Given the description of an element on the screen output the (x, y) to click on. 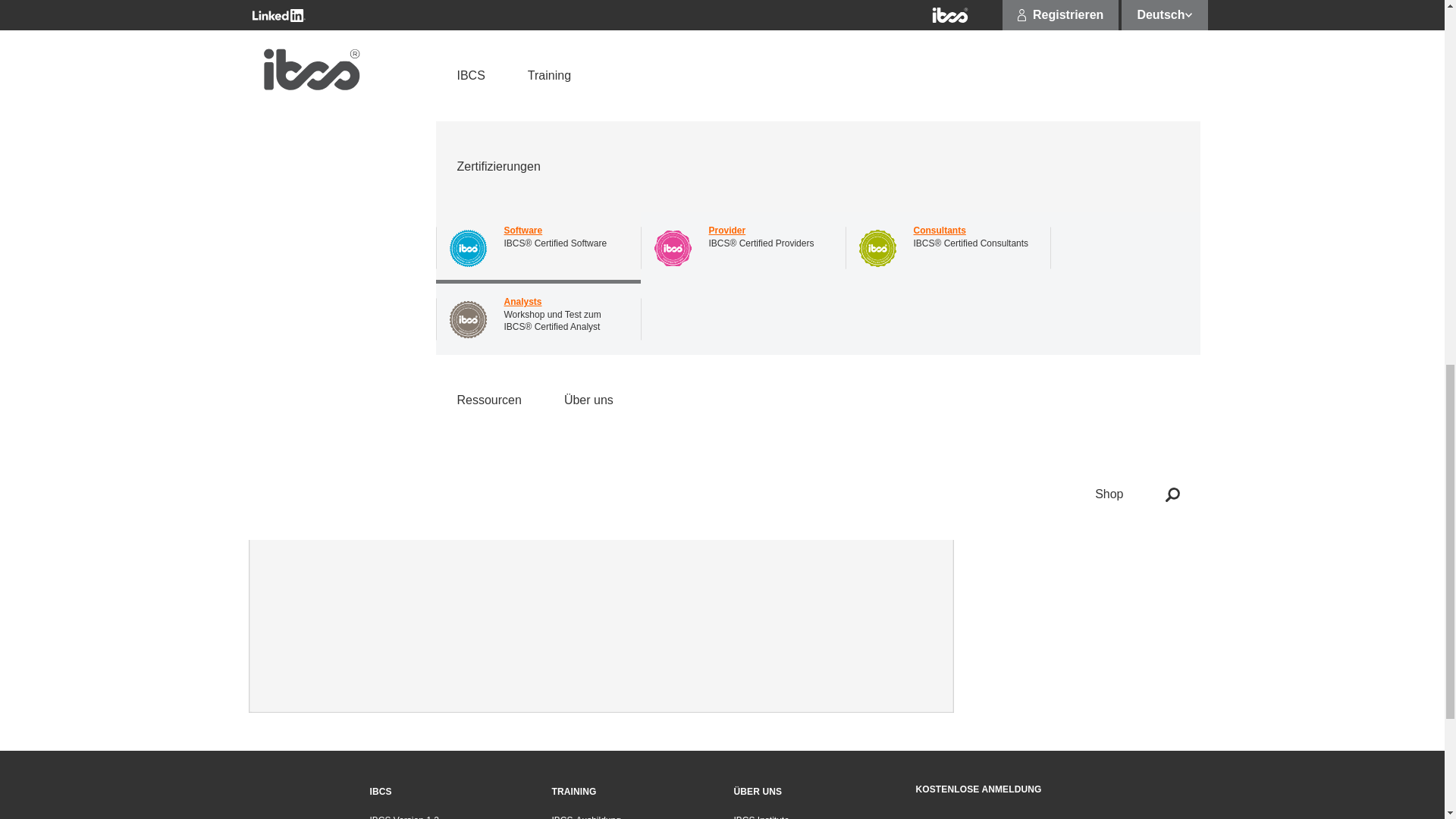
IBCS Version 1.2 (449, 816)
IBCS (380, 791)
Software-Profil ansehen (1038, 71)
